Given the description of an element on the screen output the (x, y) to click on. 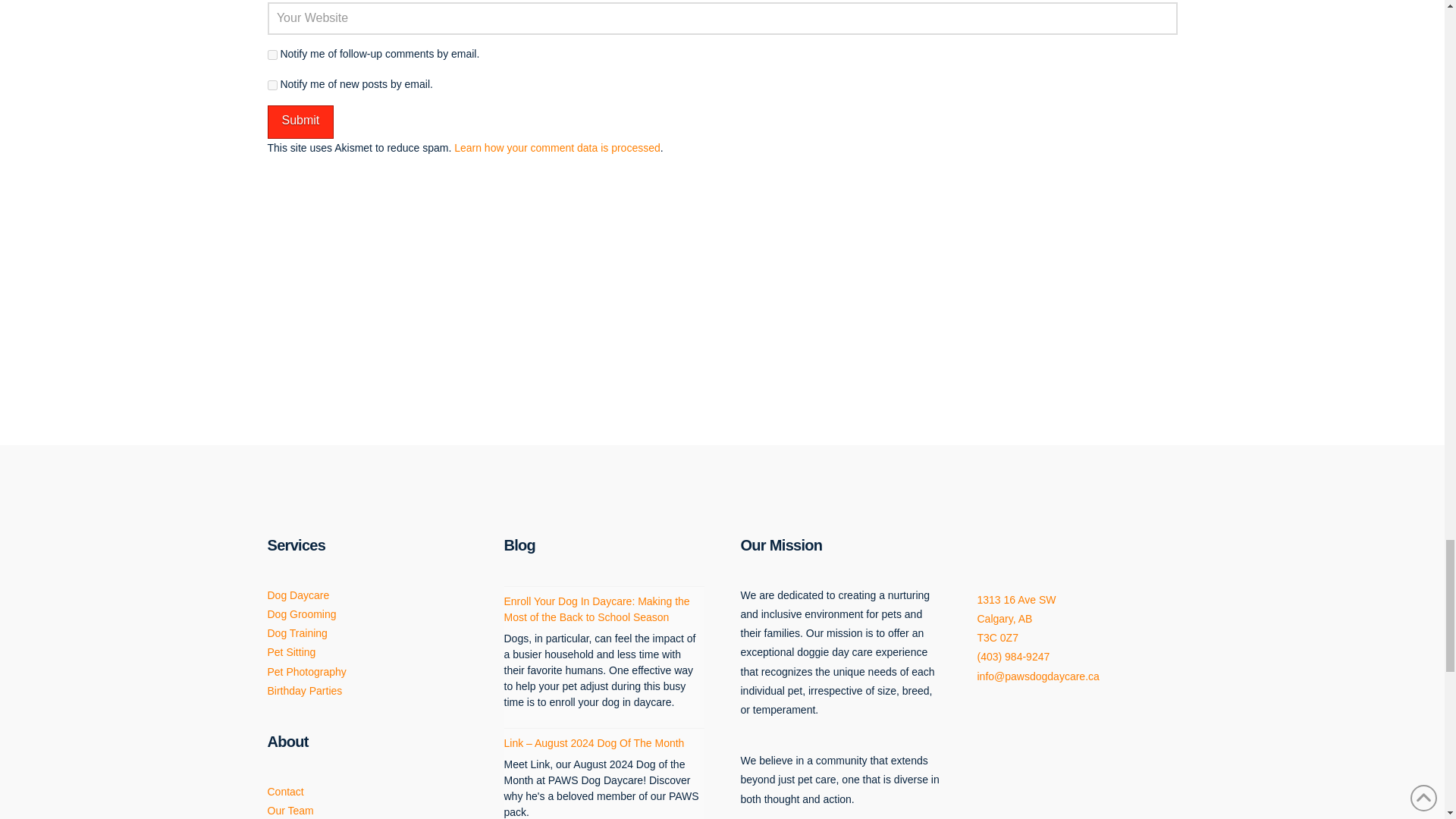
subscribe (271, 54)
subscribe (271, 85)
Submit (299, 122)
